Given the description of an element on the screen output the (x, y) to click on. 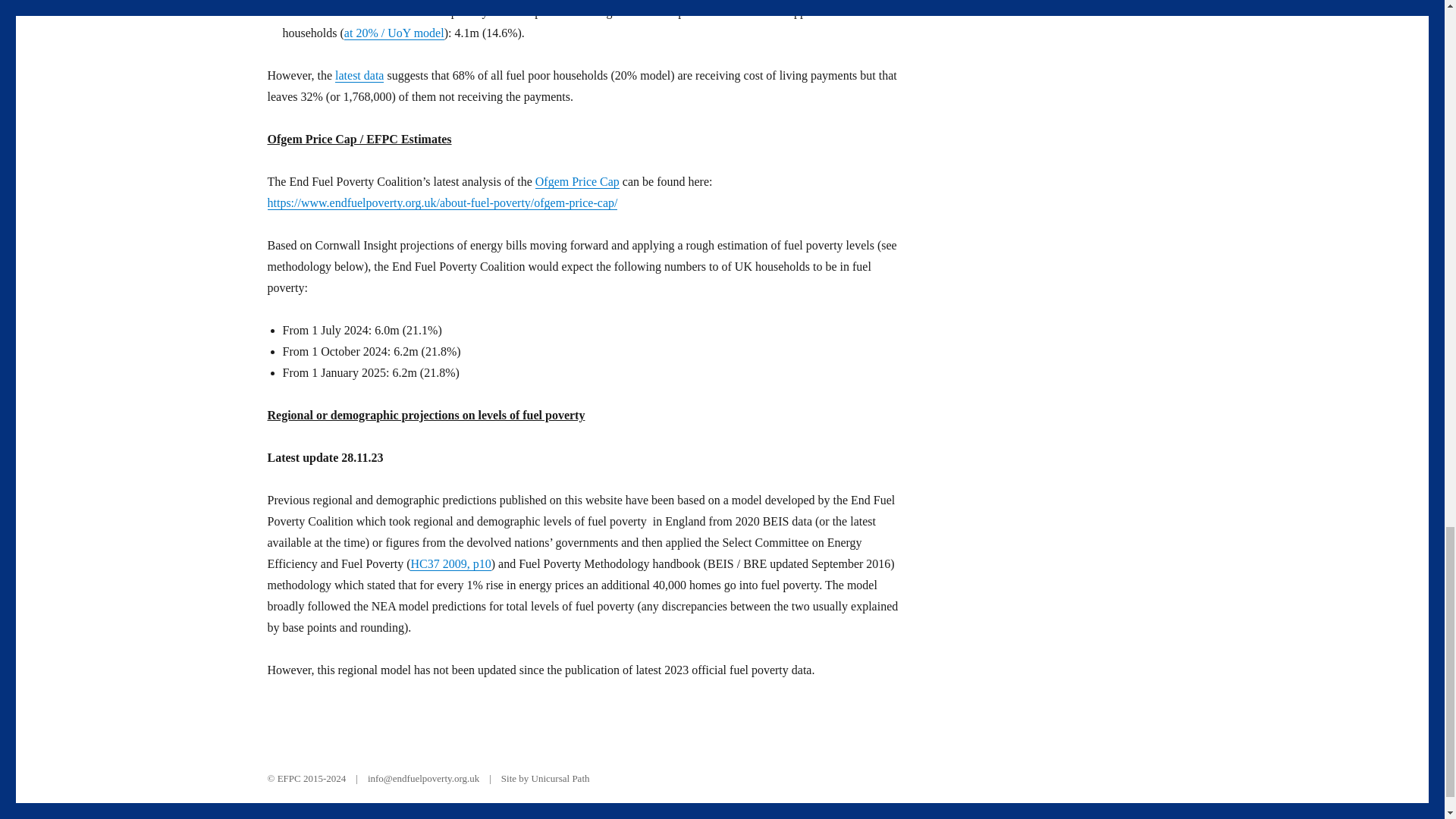
HC37 2009, p10 (450, 563)
latest data (359, 74)
Ofgem Price Cap (577, 181)
